Given the description of an element on the screen output the (x, y) to click on. 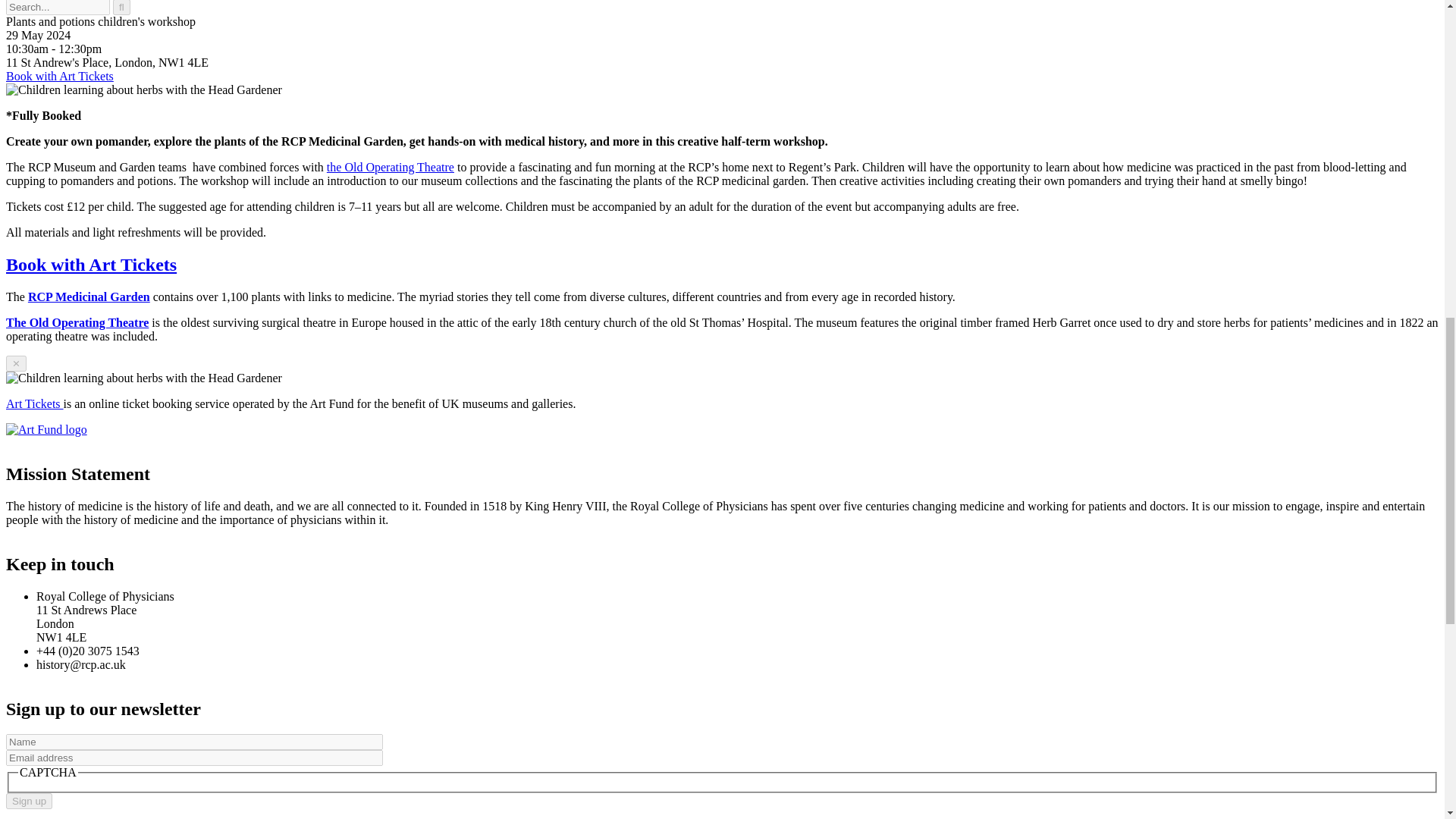
Sign up (28, 801)
